Given the description of an element on the screen output the (x, y) to click on. 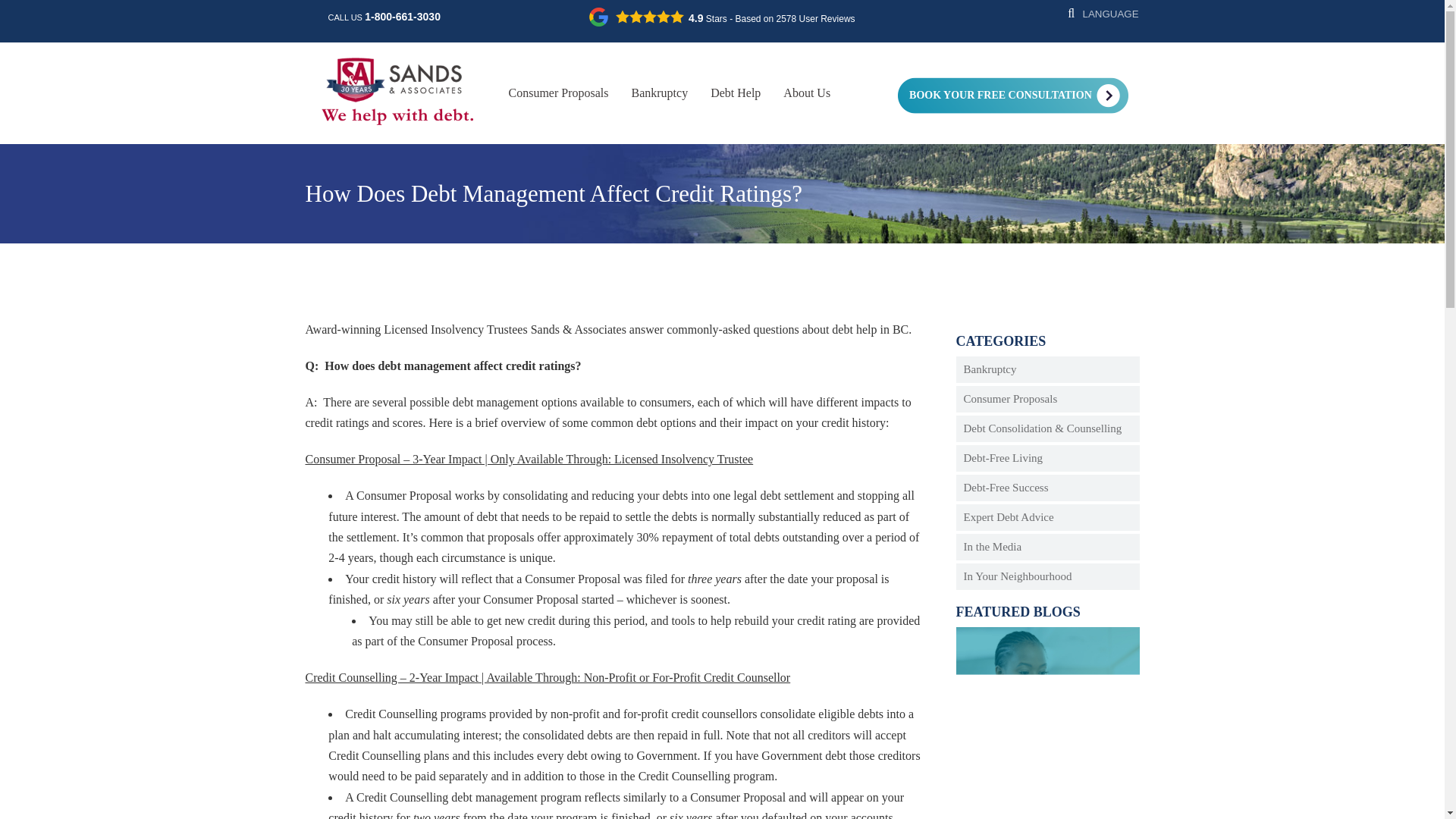
1-800-661-3030 (403, 16)
BOOK YOUR FREE CONSULTATION (994, 95)
Consumer Proposals (558, 93)
